Given the description of an element on the screen output the (x, y) to click on. 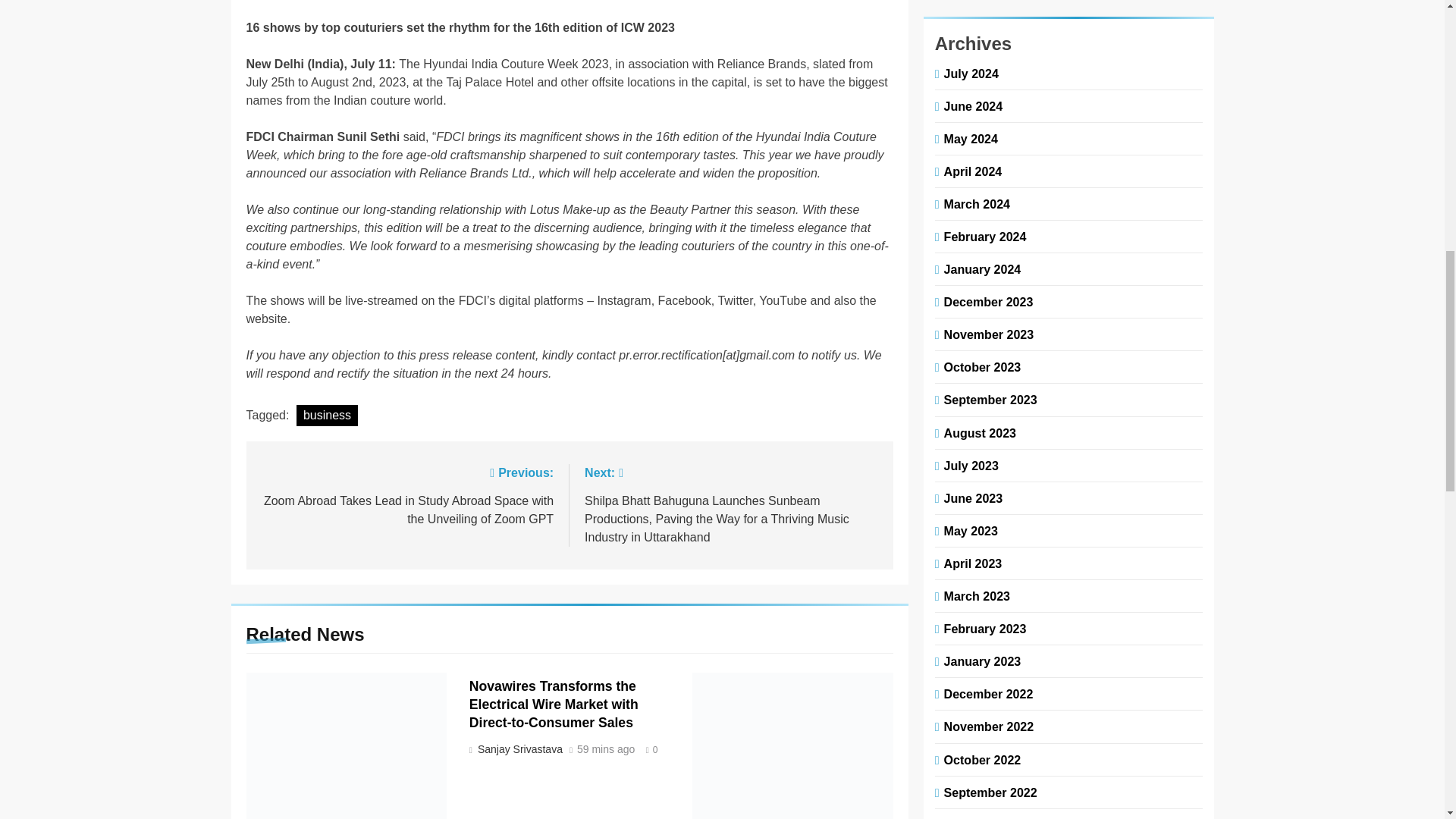
Sanjay Srivastava (517, 748)
business (327, 414)
59 mins ago (605, 749)
